Given the description of an element on the screen output the (x, y) to click on. 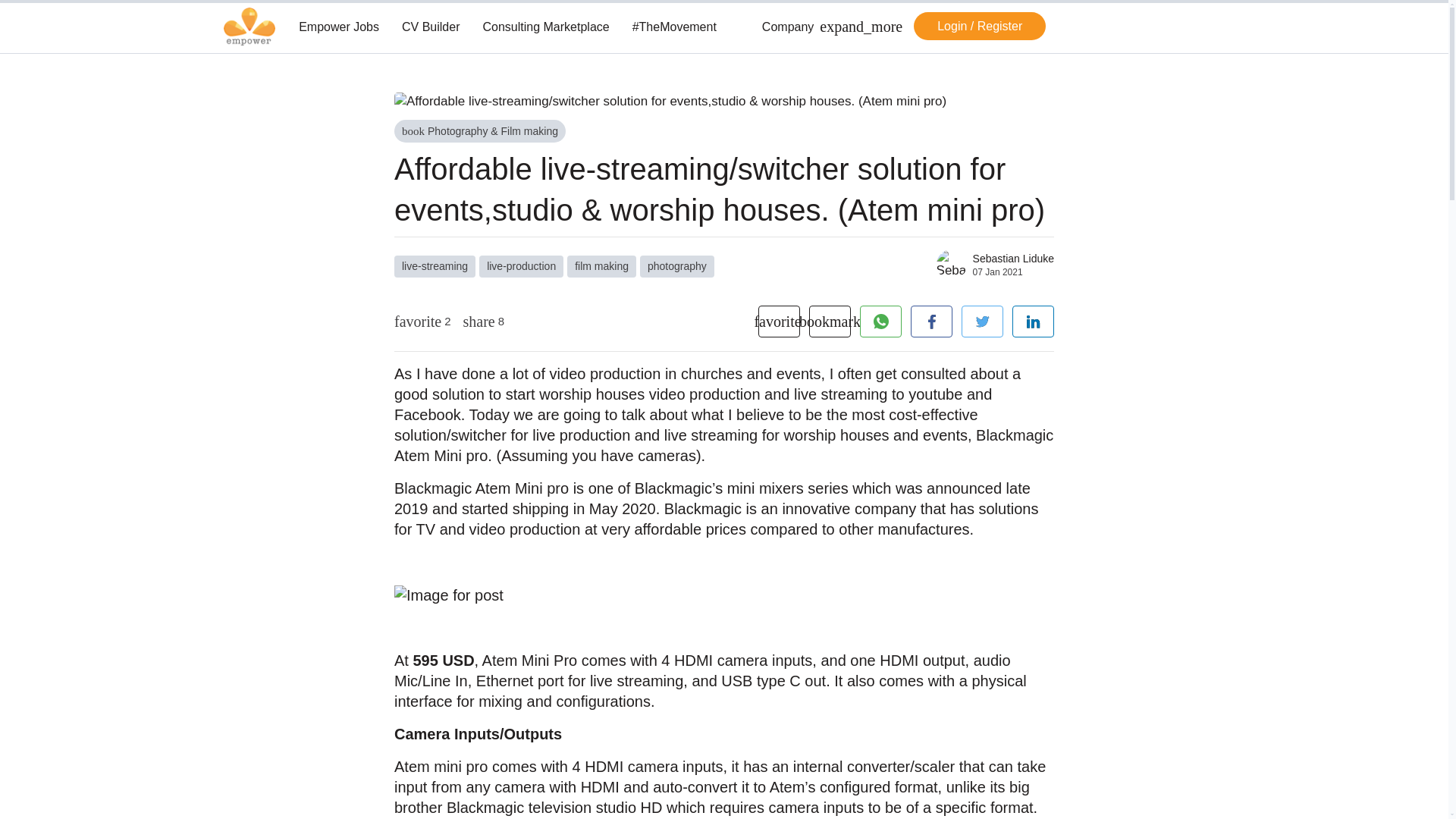
Sebastian Liduke (1013, 258)
Consulting Marketplace (545, 26)
photography (677, 266)
live-production (521, 266)
film making (601, 266)
Empower Jobs (338, 26)
live-streaming (435, 266)
CV Builder (430, 26)
bookmark (829, 321)
favorite (778, 321)
